Given the description of an element on the screen output the (x, y) to click on. 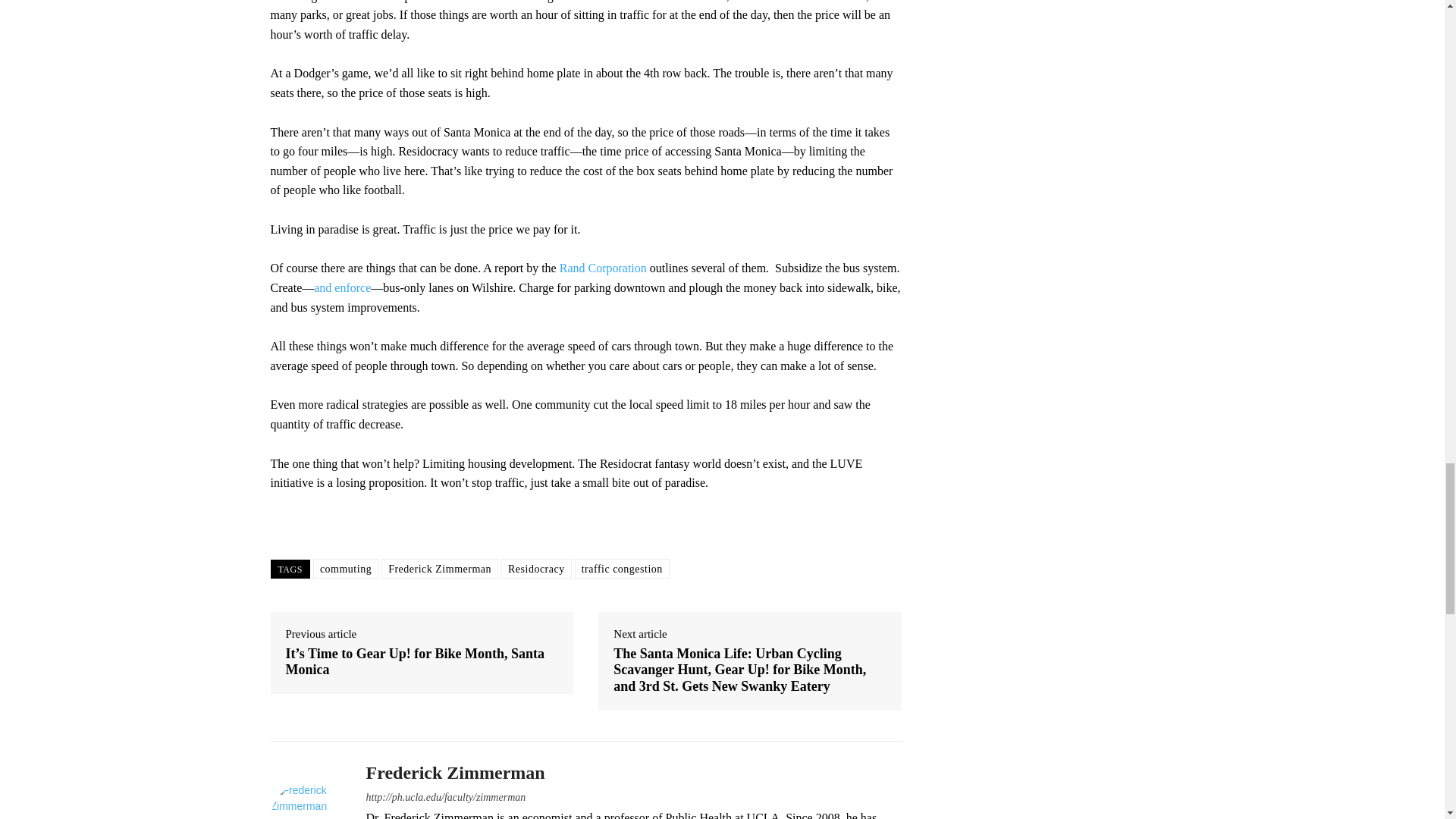
Frederick Zimmerman (305, 787)
